Given the description of an element on the screen output the (x, y) to click on. 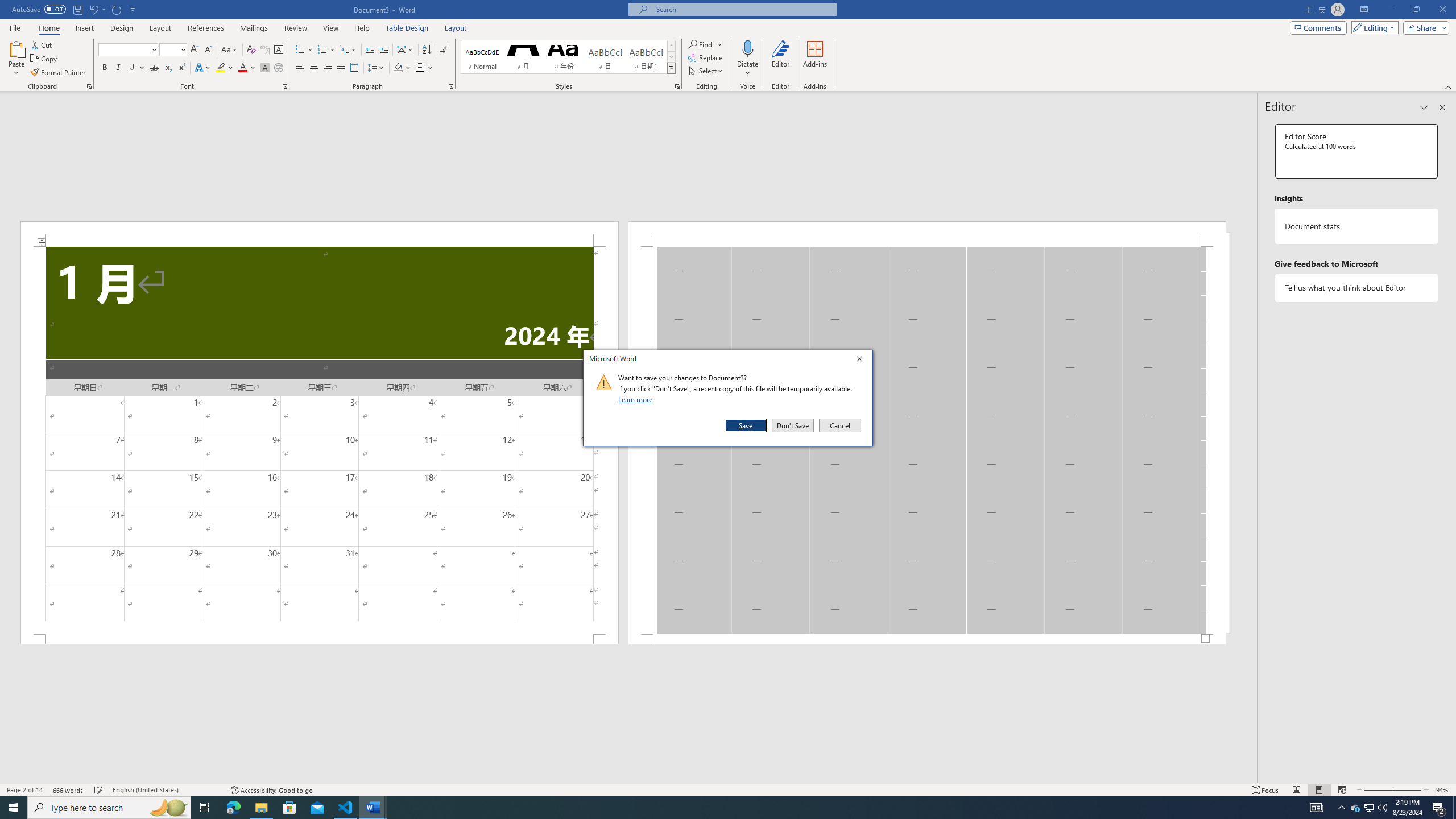
Office Clipboard... (88, 85)
Enclose Characters... (278, 67)
Visual Studio Code - 1 running window (345, 807)
Class: MsoCommandBar (728, 789)
Minimize (1390, 9)
Read Mode (1296, 790)
References (205, 28)
Zoom In (1407, 790)
Word - 2 running windows (373, 807)
Share (1423, 27)
Align Right (327, 67)
Replace... (705, 56)
Superscript (180, 67)
Tell us what you think about Editor (1356, 288)
